Given the description of an element on the screen output the (x, y) to click on. 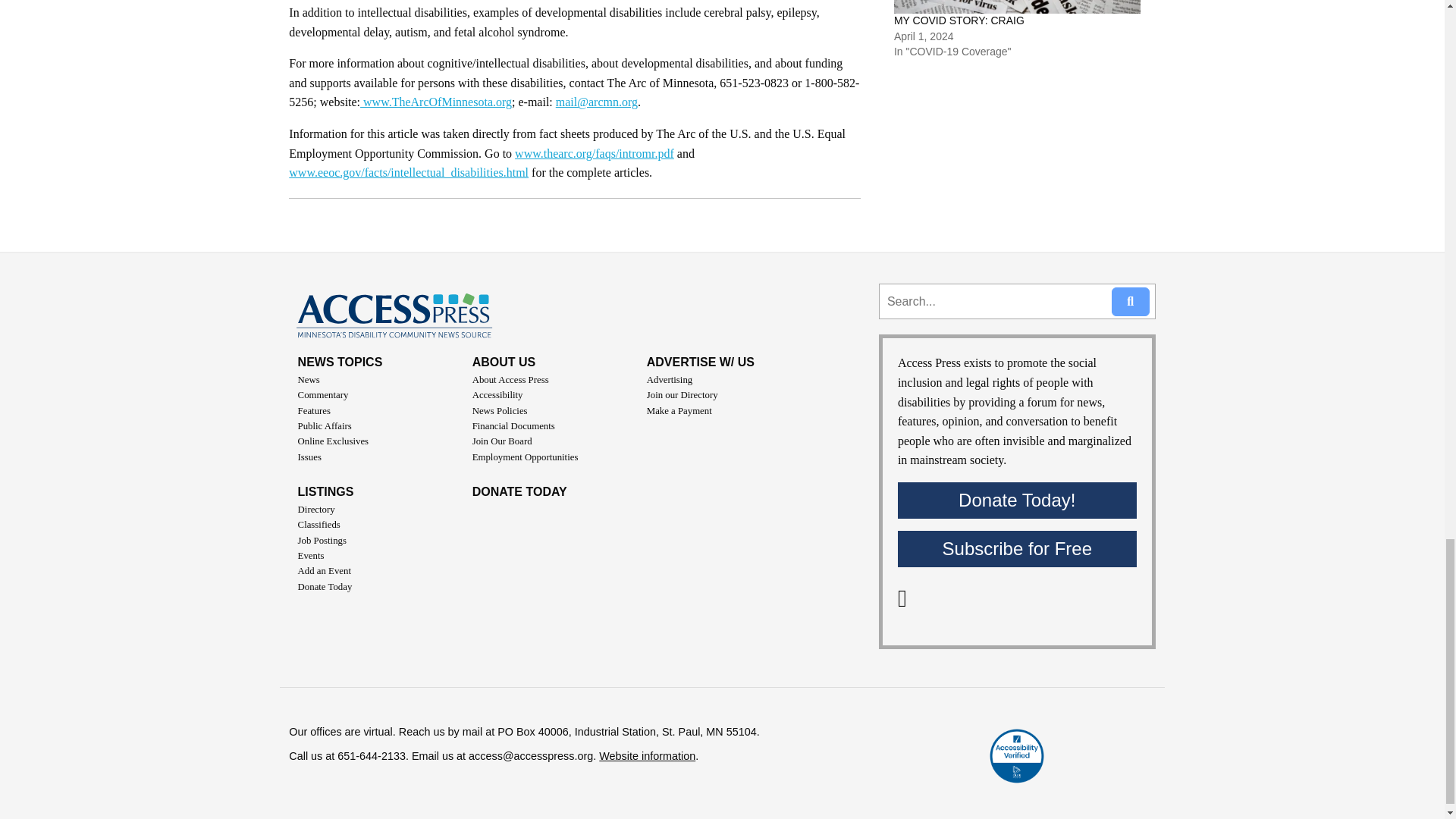
MY COVID STORY: CRAIG (959, 20)
MY COVID STORY: CRAIG (1016, 6)
